Given the description of an element on the screen output the (x, y) to click on. 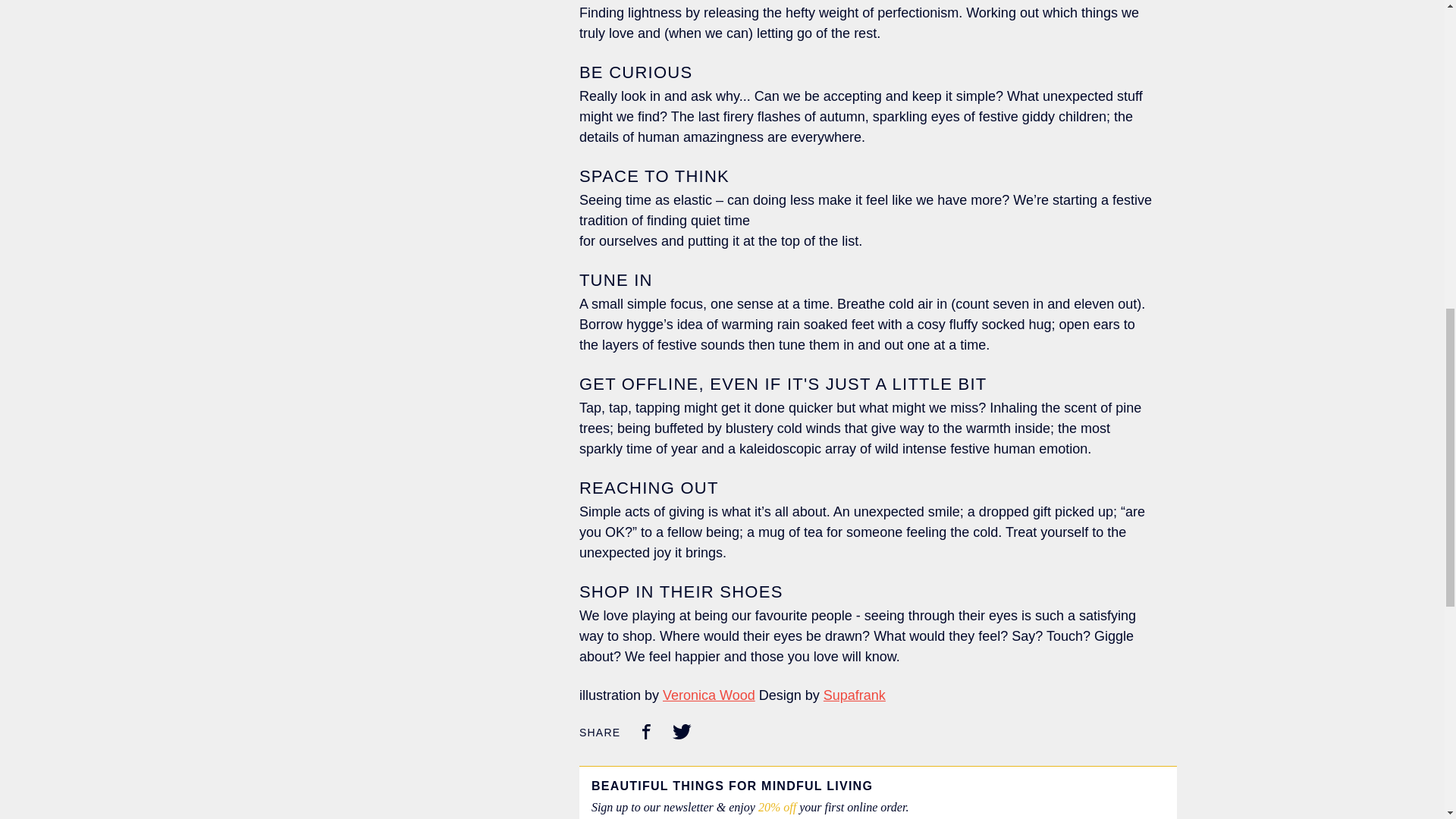
Veronica Wood (708, 694)
Supafrank (854, 694)
Twitter (681, 734)
